Given the description of an element on the screen output the (x, y) to click on. 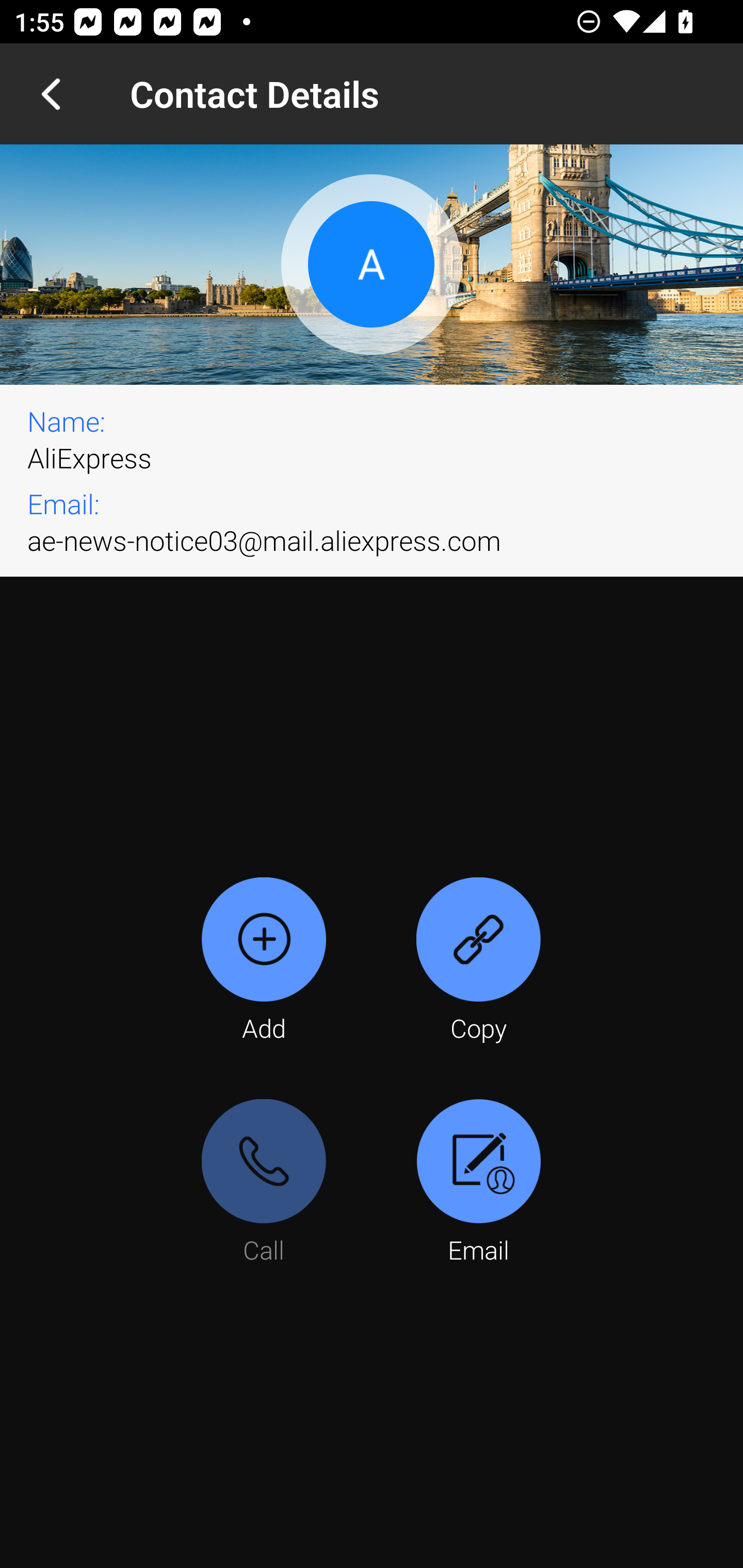
Navigate up (50, 93)
Add (264, 961)
Copy (478, 961)
Call (264, 1182)
Email (478, 1182)
